Given the description of an element on the screen output the (x, y) to click on. 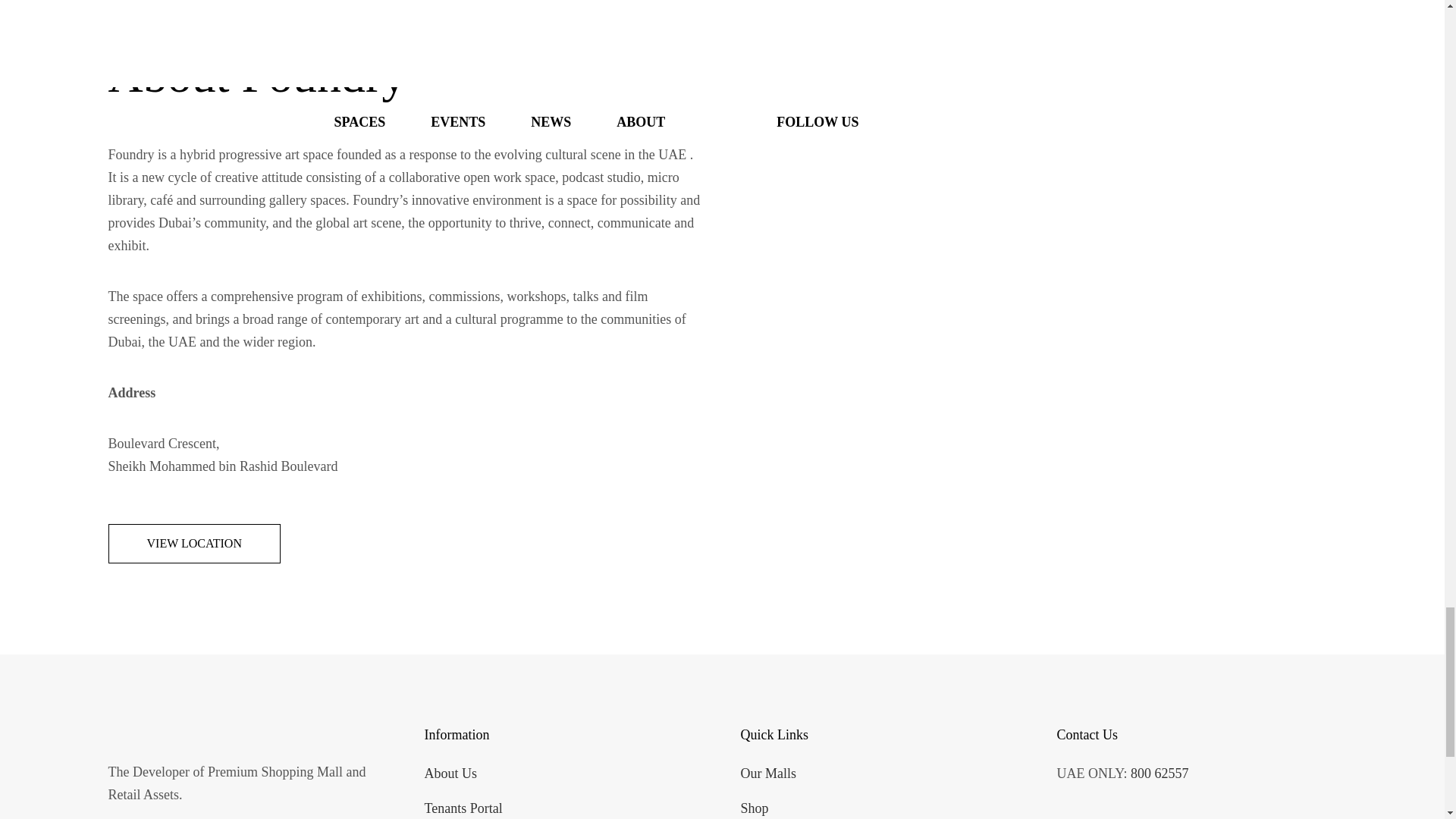
About Us (451, 773)
VIEW LOCATION (193, 543)
Tenants Portal (463, 807)
